Given the description of an element on the screen output the (x, y) to click on. 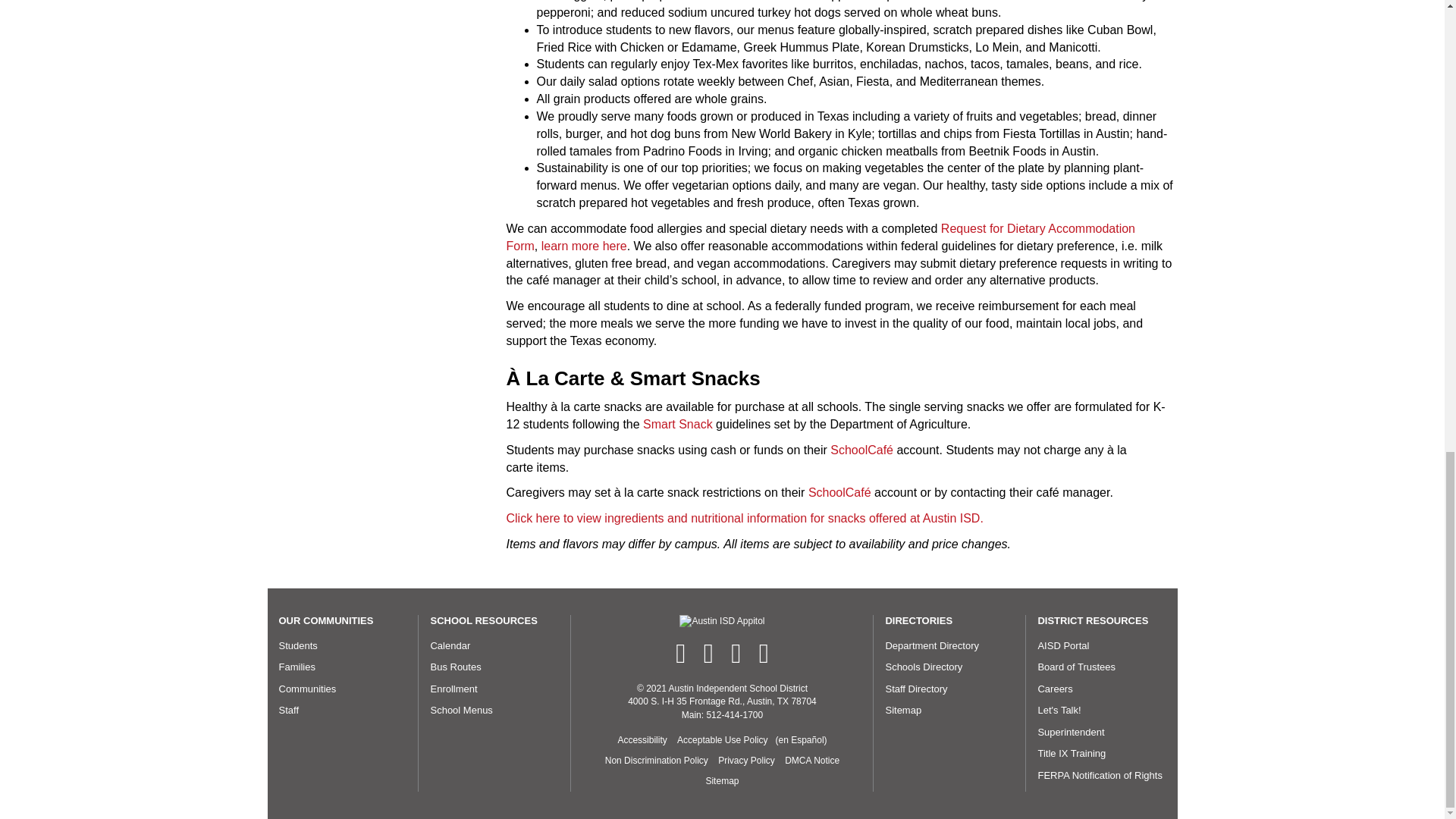
Download PDF Acceptable Use Policy (801, 740)
Download PDF (721, 740)
Austin ISD Website Privacy Policy (746, 761)
PDF File (656, 761)
